Given the description of an element on the screen output the (x, y) to click on. 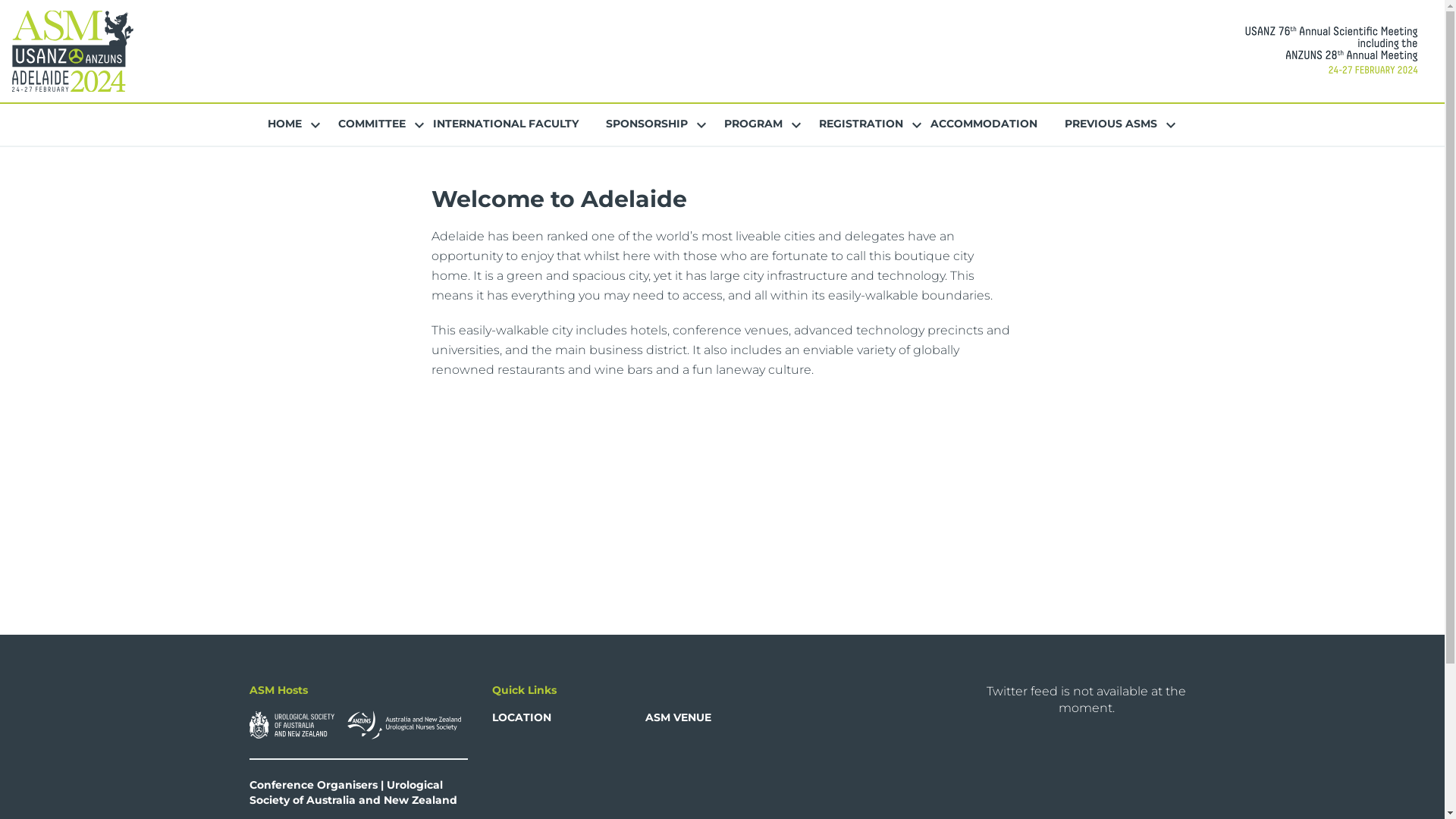
REGISTRATION Element type: text (860, 124)
PROGRAM Element type: text (752, 124)
LOCATION Element type: text (520, 717)
ACCOMMODATION Element type: text (982, 124)
COMMITTEE Element type: text (371, 124)
SPONSORSHIP Element type: text (645, 124)
INTERNATIONAL FACULTY Element type: text (504, 124)
ASM VENUE Element type: text (678, 717)
HOME Element type: text (283, 124)
PREVIOUS ASMS Element type: text (1110, 124)
